Given the description of an element on the screen output the (x, y) to click on. 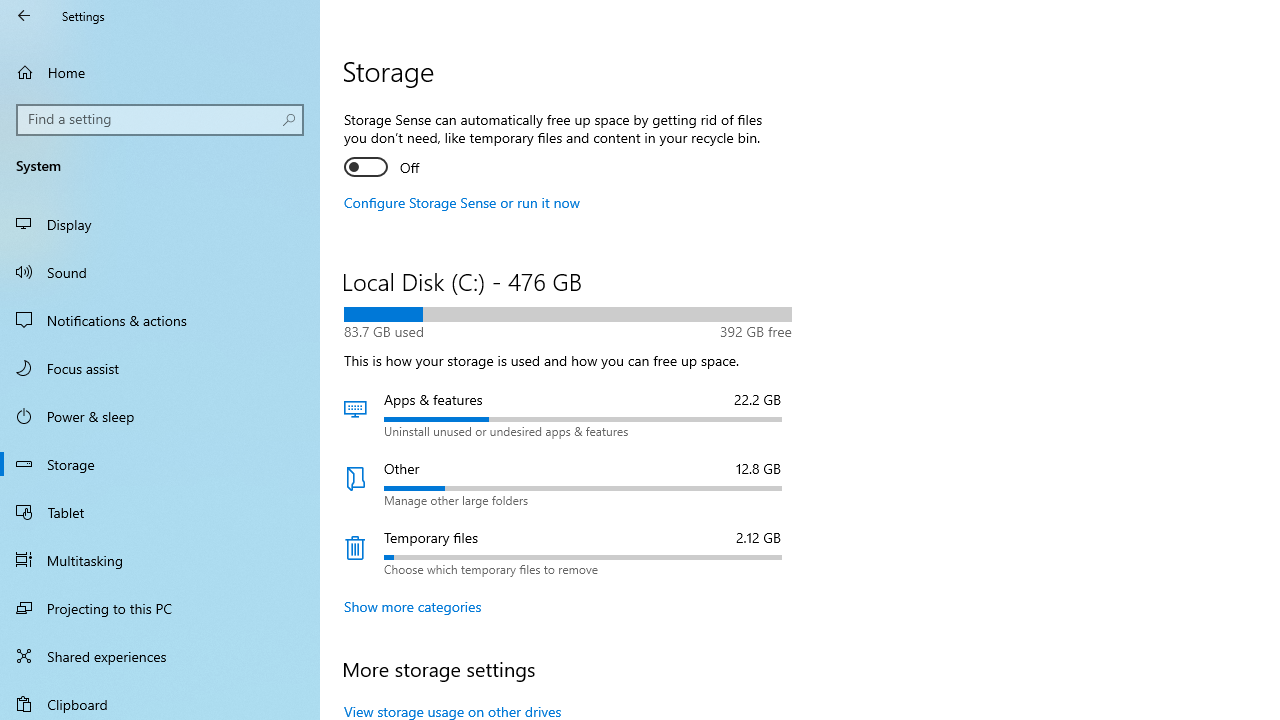
Sound (160, 271)
Focus assist (160, 367)
Other (568, 483)
Other (568, 483)
Notifications & actions (160, 319)
Tablet (160, 511)
Power & sleep (160, 415)
Shared experiences (160, 655)
Search box, Find a setting (160, 119)
Apps & features (568, 414)
Projecting to this PC (160, 607)
Temporary files (568, 551)
Storage (160, 463)
Show more categories (413, 606)
